Given the description of an element on the screen output the (x, y) to click on. 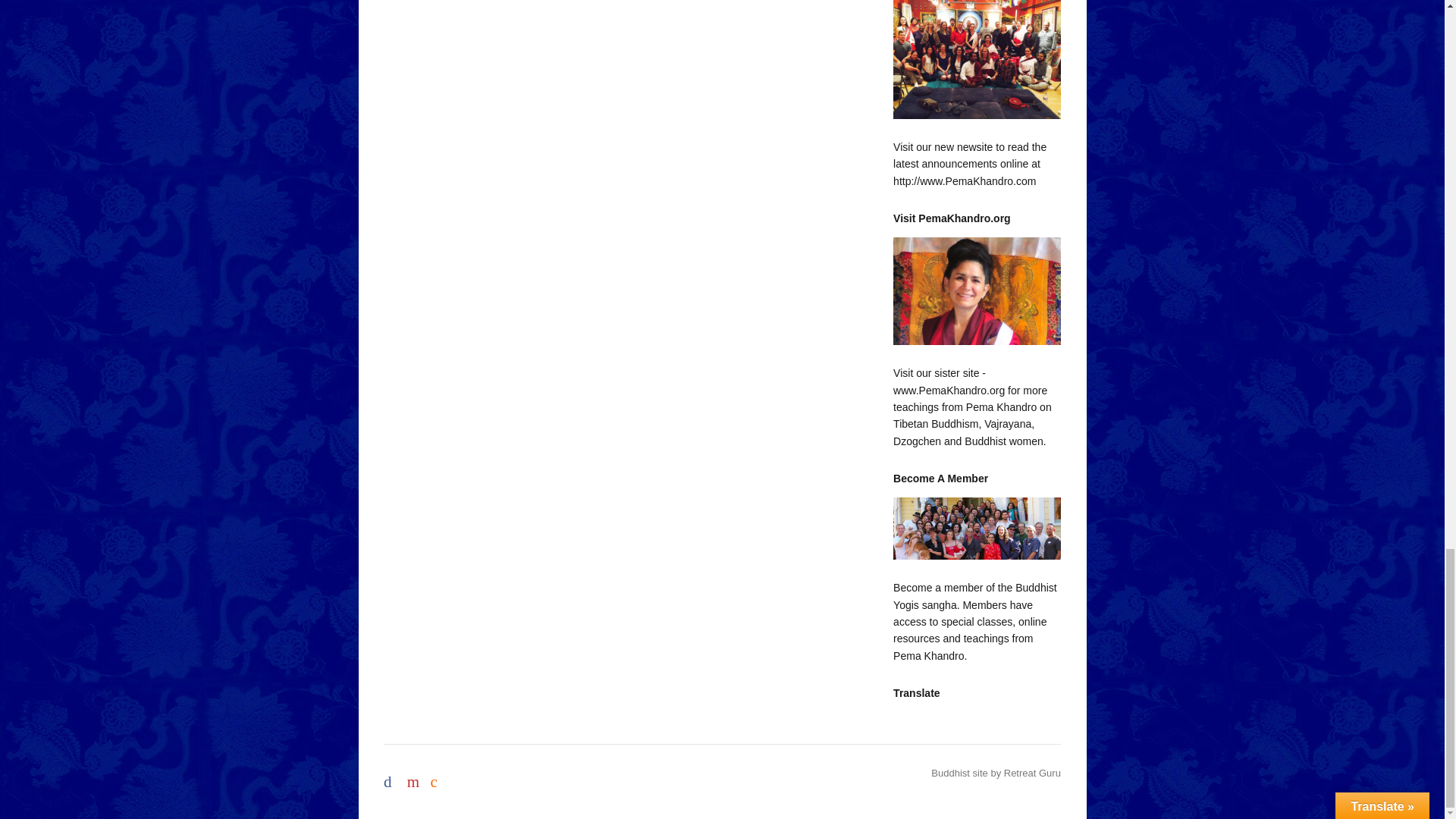
Facebook (392, 778)
Become A Member (977, 528)
YouTube (416, 778)
Read the Latest News (977, 59)
RSS (438, 778)
